Given the description of an element on the screen output the (x, y) to click on. 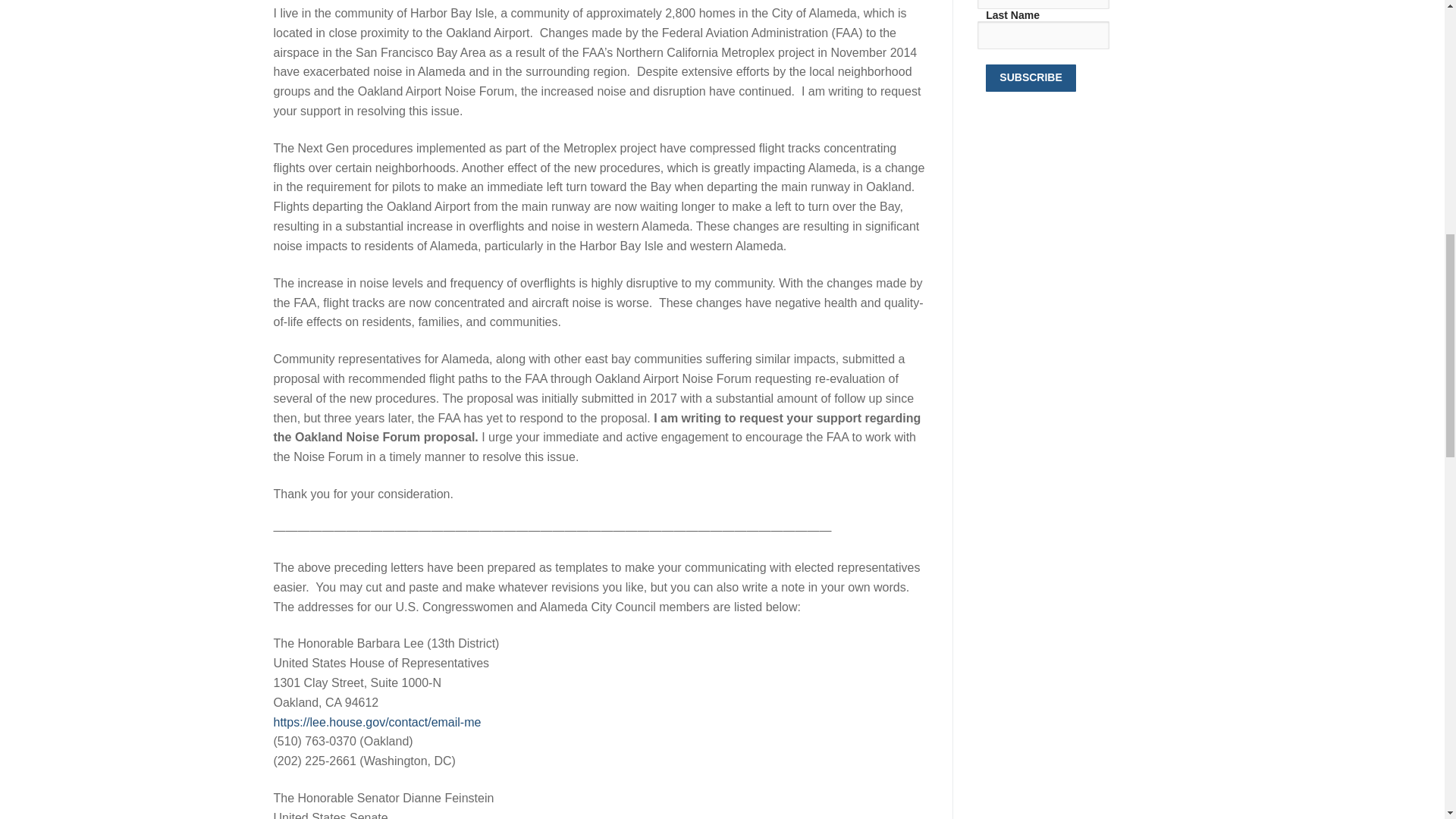
Subscribe (1030, 77)
